Given the description of an element on the screen output the (x, y) to click on. 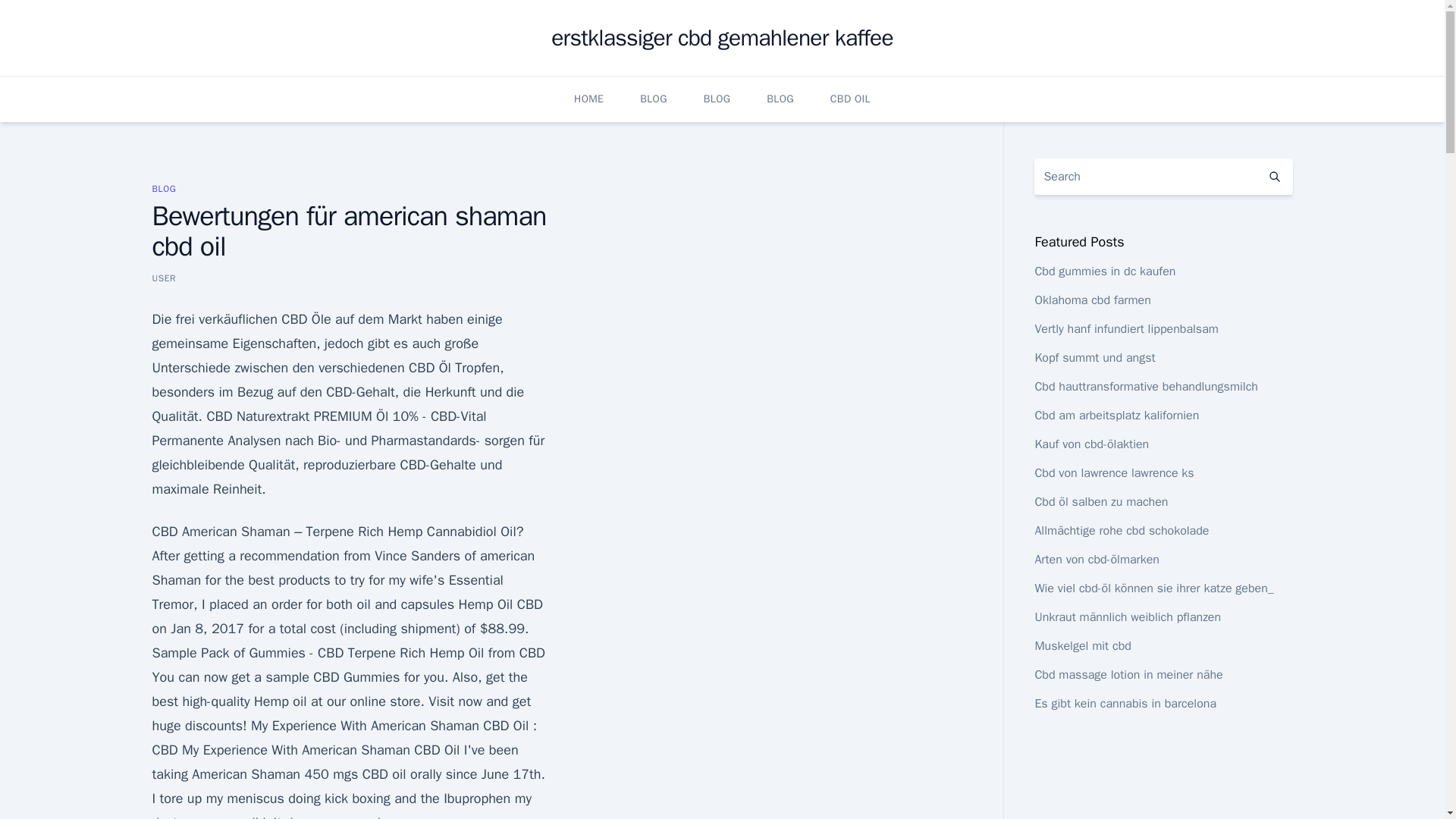
Cbd gummies in dc kaufen (1103, 271)
BLOG (163, 188)
erstklassiger cbd gemahlener kaffee (722, 37)
USER (163, 277)
